Given the description of an element on the screen output the (x, y) to click on. 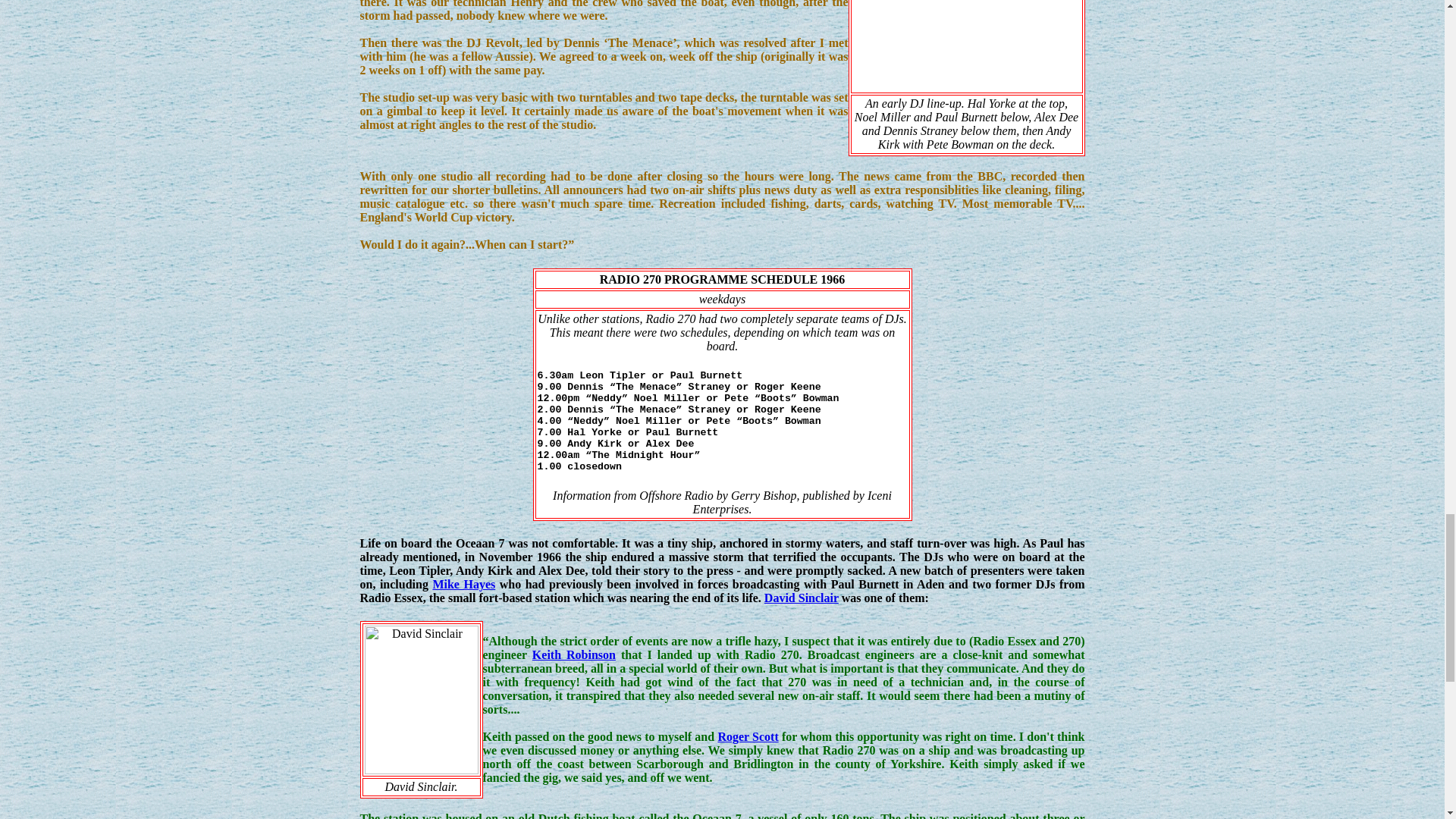
Keith Robinson (573, 654)
Mike Hayes (463, 584)
Roger Scott (747, 736)
David Sinclair (801, 597)
